Given the description of an element on the screen output the (x, y) to click on. 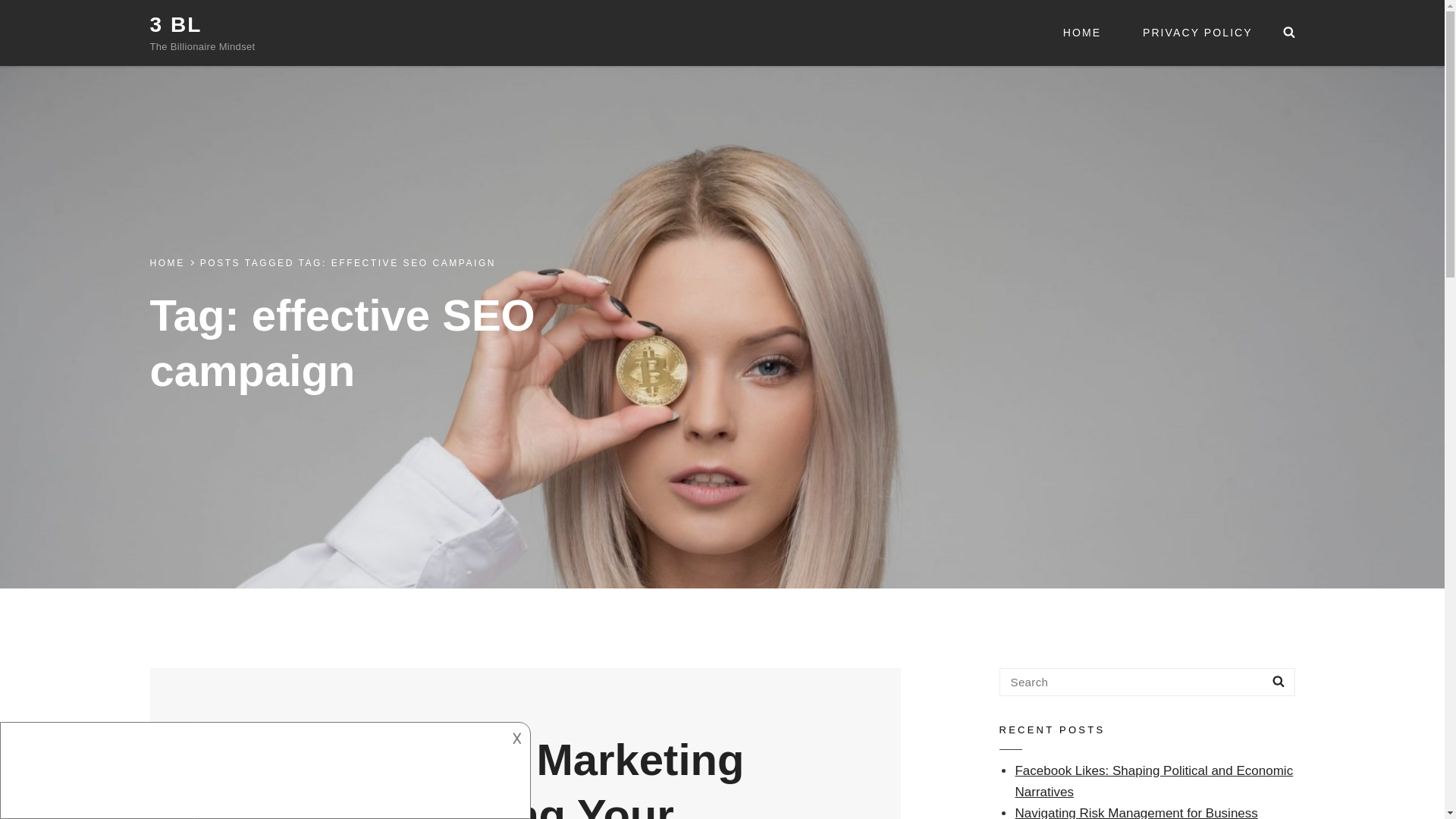
PRIVACY POLICY (1197, 33)
Search (1278, 682)
Navigating Risk Management for Business Continuity (1135, 812)
description (252, 760)
HOME (1081, 33)
3 BL (175, 24)
HOME (166, 262)
Facebook Likes: Shaping Political and Economic Narratives (1153, 781)
